Given the description of an element on the screen output the (x, y) to click on. 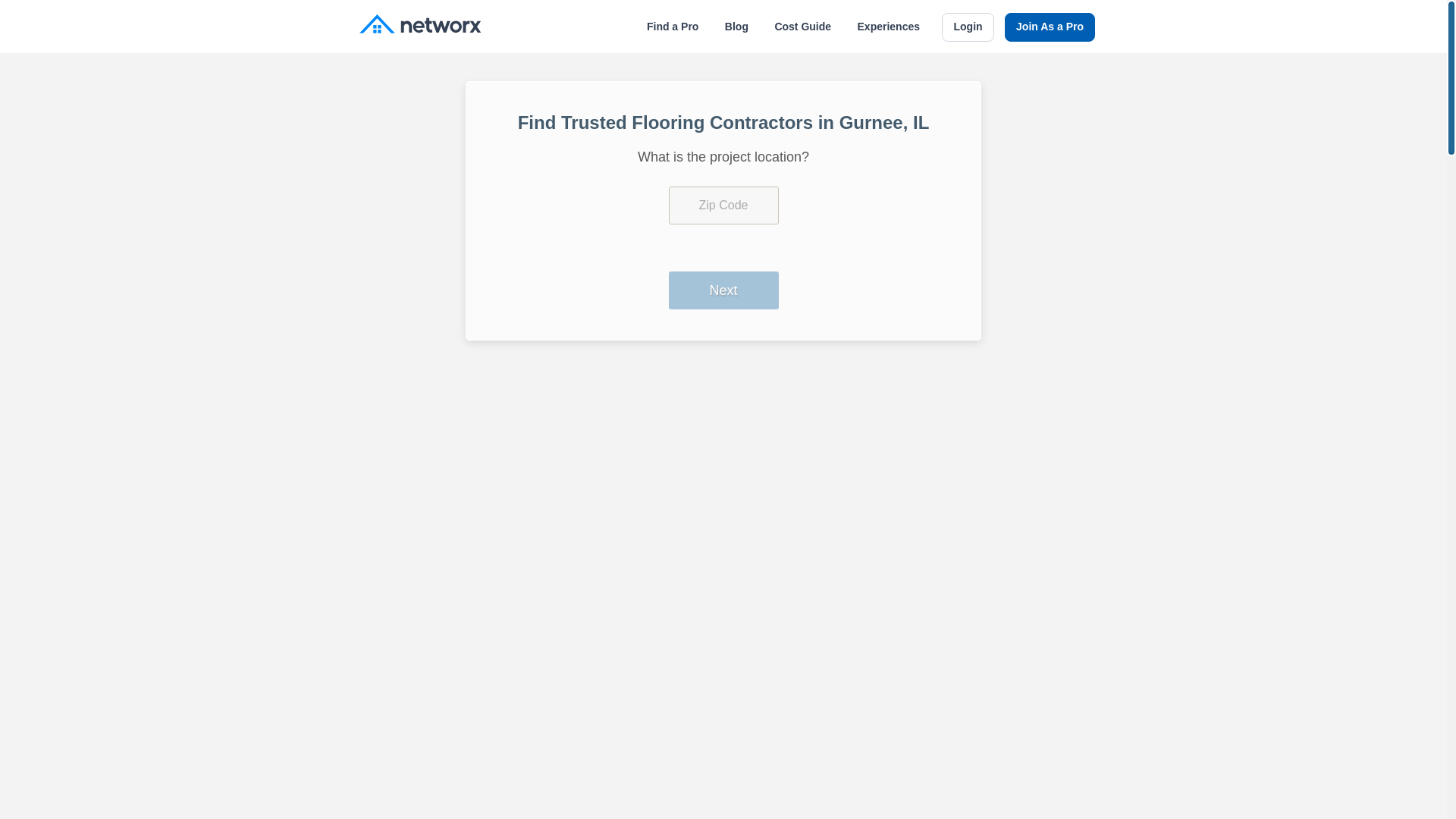
Login (967, 27)
Join As a Pro (1049, 27)
Cost Guide (802, 26)
Experiences (888, 26)
Please enter a valid zip code (723, 205)
Next (723, 290)
Networx (419, 25)
Find a Pro (672, 26)
